Given the description of an element on the screen output the (x, y) to click on. 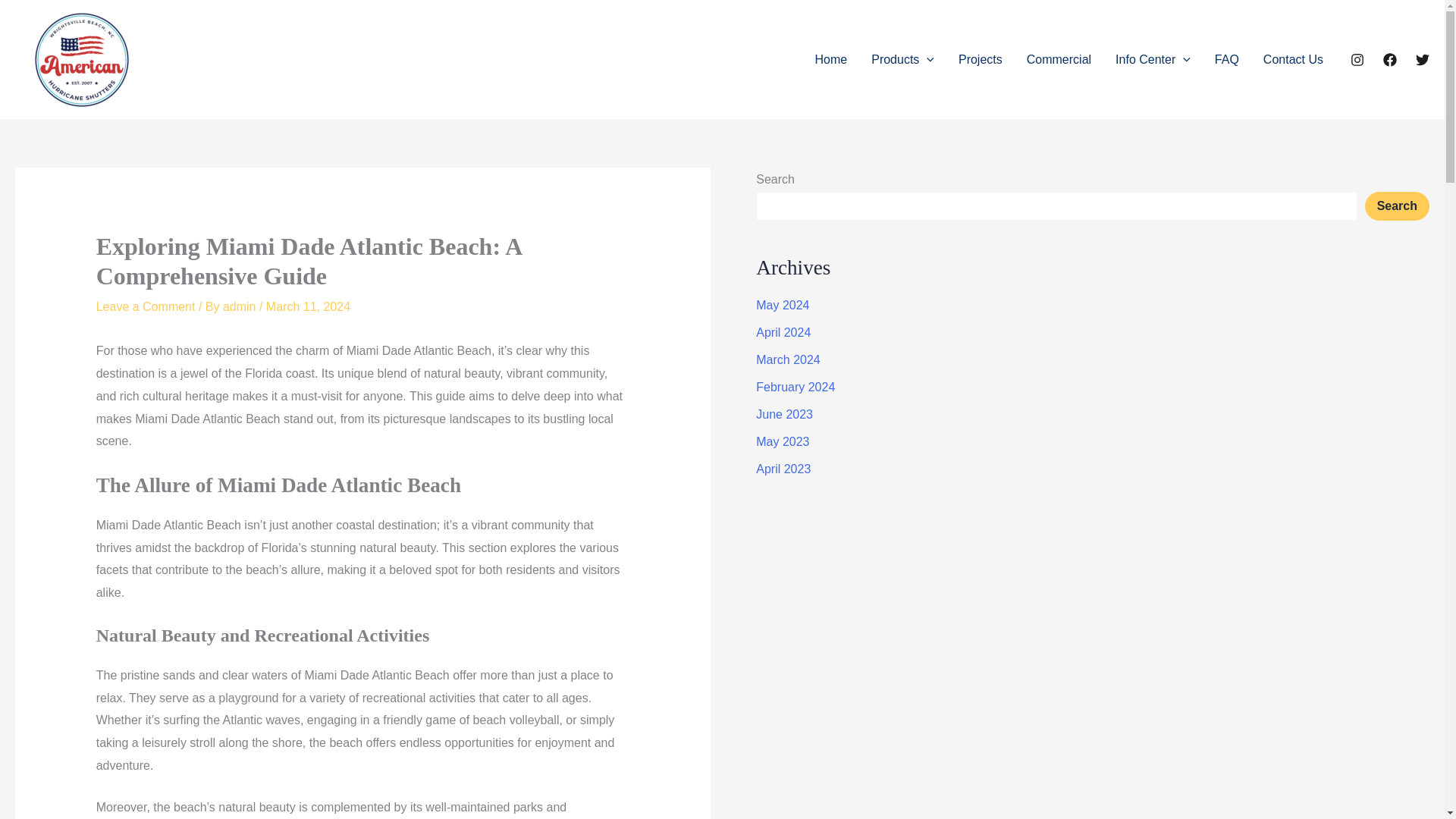
View all posts by admin (240, 306)
Products (902, 59)
Contact Us (1292, 59)
Commercial (1058, 59)
Info Center (1152, 59)
